Given the description of an element on the screen output the (x, y) to click on. 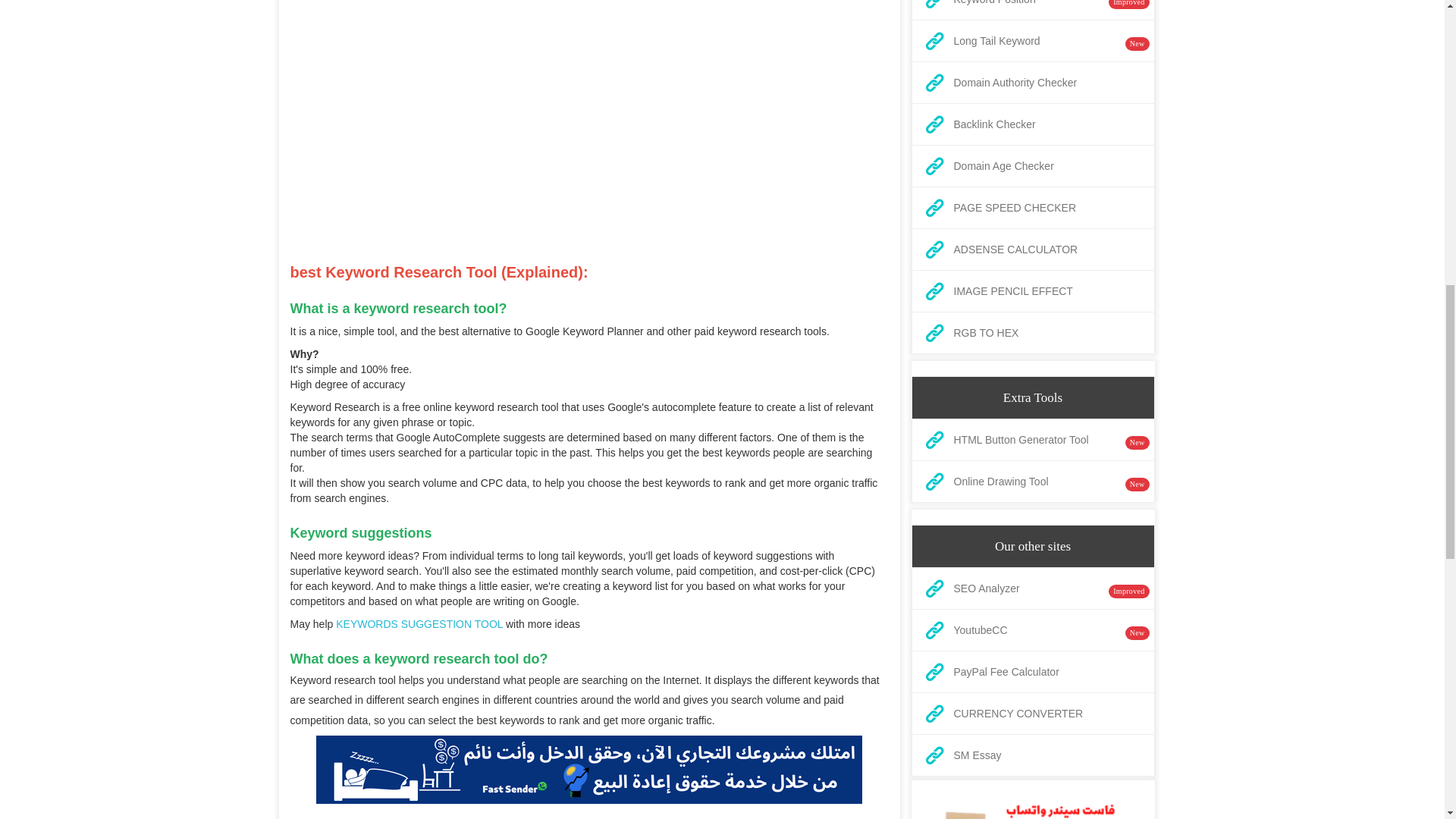
SEO Analyzer (1031, 588)
Keyword Position (1031, 6)
PAGE SPEED CHECKER (1031, 207)
Online Drawing Tool (1031, 481)
IMAGE PENCIL EFFECT (1031, 291)
Domain Age Checker (1031, 166)
Backlink Checker (1031, 124)
RGB TO HEX (1031, 333)
Long Tail Keyword (1031, 40)
HTML Button Generator Tool (1031, 439)
Domain Authority Checker (1031, 82)
KEYWORDS SUGGESTION TOOL (419, 623)
ADSENSE CALCULATOR (1031, 249)
